Given the description of an element on the screen output the (x, y) to click on. 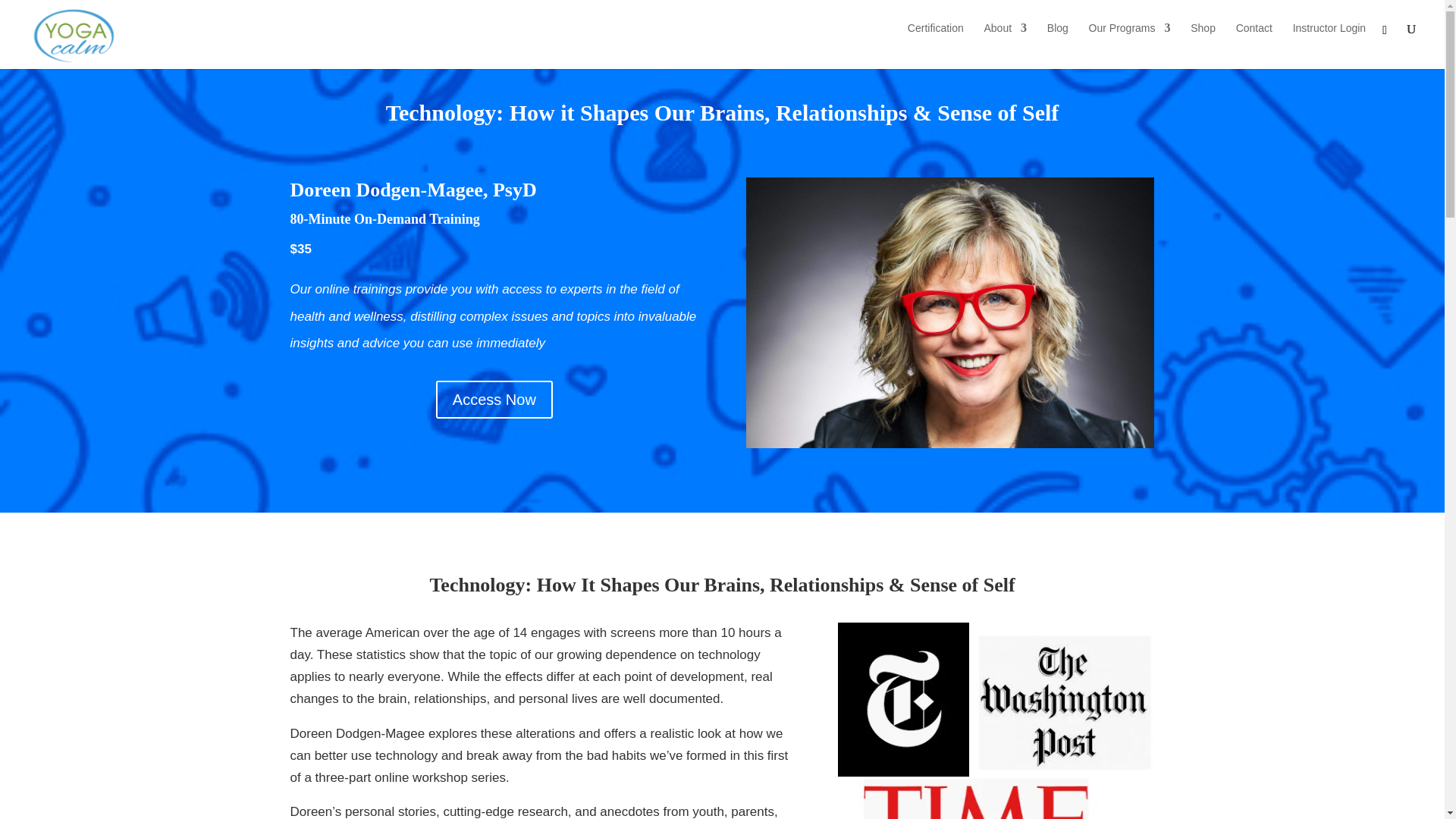
Access Now (494, 399)
Our Programs (1129, 39)
About (1005, 39)
Contact (1254, 39)
Certification (935, 39)
Instructor Login (1329, 39)
